Given the description of an element on the screen output the (x, y) to click on. 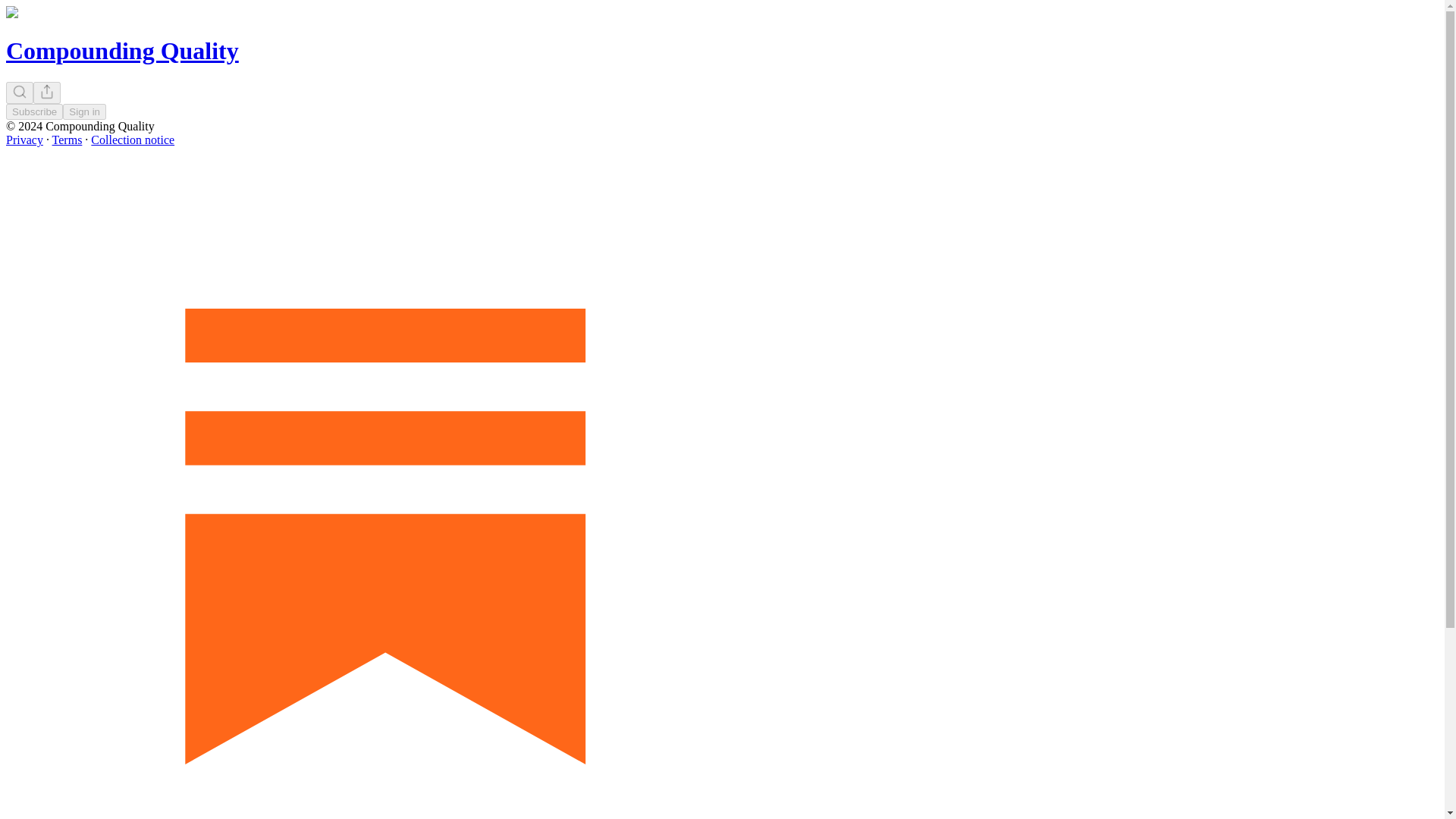
Compounding Quality (121, 50)
Privacy (24, 139)
Sign in (84, 111)
Subscribe (33, 111)
Collection notice (132, 139)
Terms (67, 139)
